Given the description of an element on the screen output the (x, y) to click on. 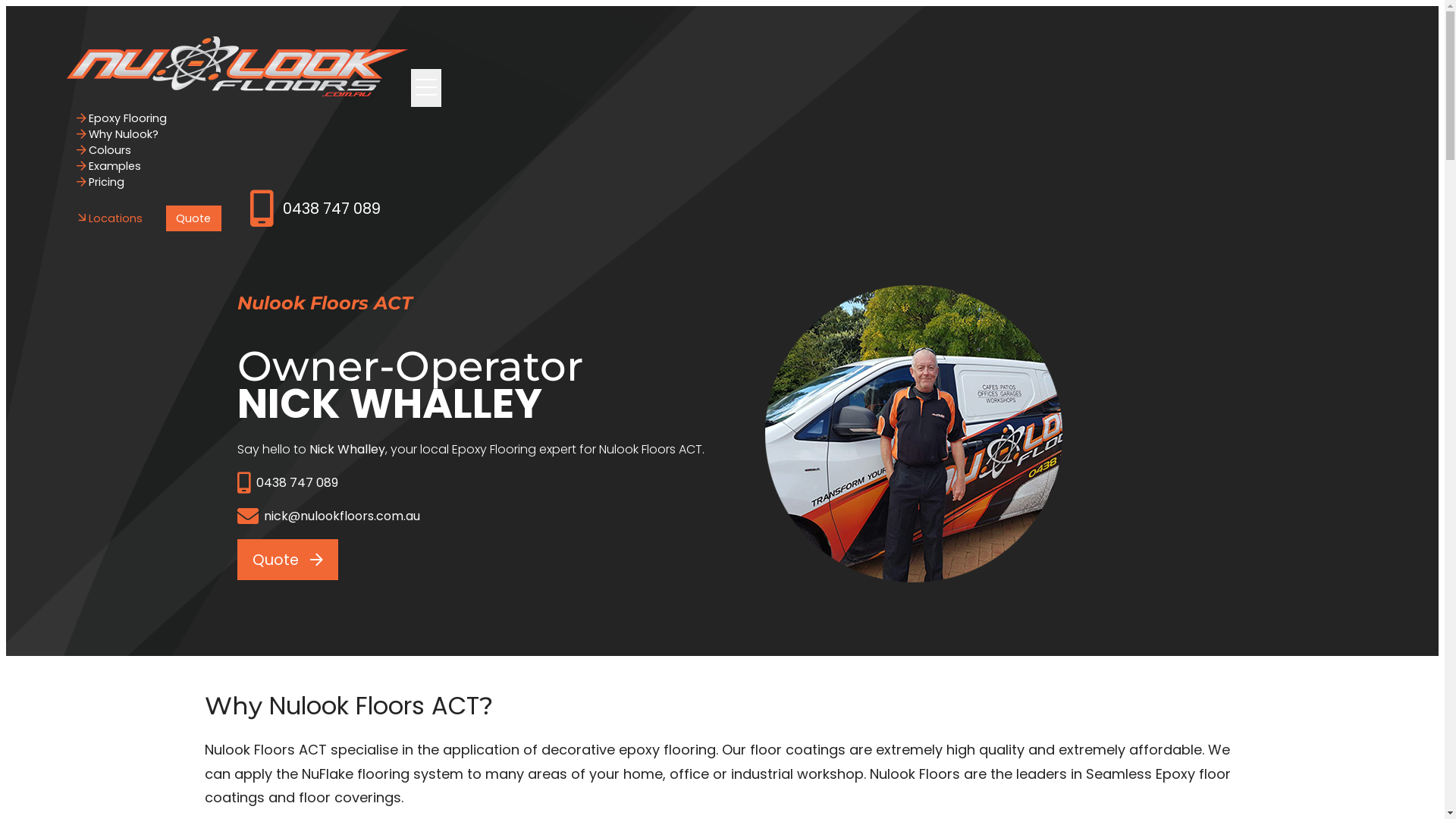
0438 747 089 Element type: text (315, 208)
nick@nulookfloors.com.au Element type: text (469, 516)
Quote Element type: text (286, 559)
Colours Element type: text (103, 149)
Examples Element type: text (108, 165)
Locations Element type: text (109, 217)
Pricing Element type: text (100, 181)
Quote Element type: text (193, 218)
Why Nulook? Element type: text (117, 133)
Epoxy Flooring Element type: text (121, 117)
0438 747 089 Element type: text (469, 482)
